Given the description of an element on the screen output the (x, y) to click on. 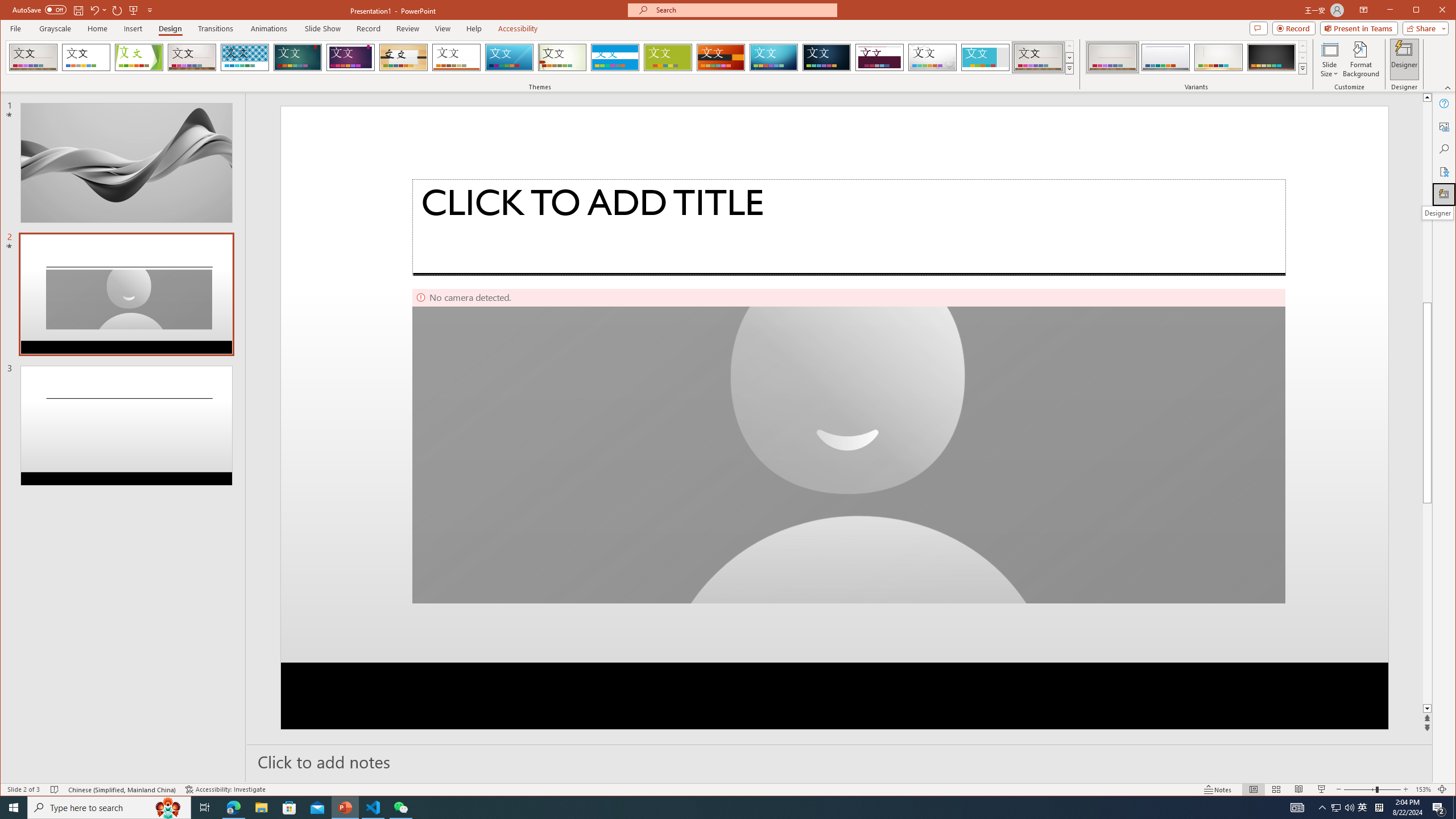
Slice (509, 57)
Ion Boardroom (350, 57)
AutomationID: ThemeVariantsGallery (1196, 57)
